Given the description of an element on the screen output the (x, y) to click on. 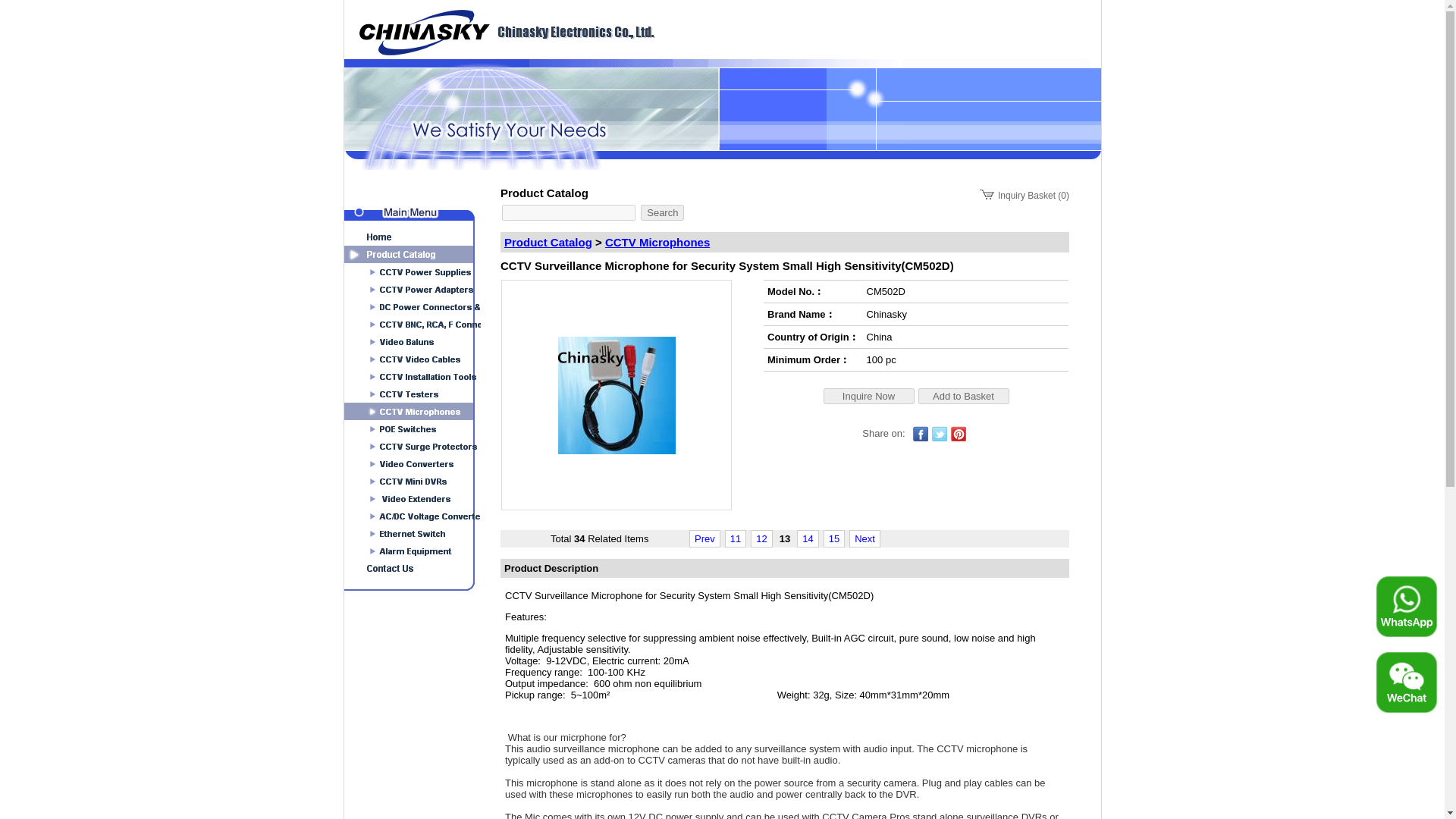
11 (735, 538)
Whatsapp (1406, 606)
14 (807, 538)
Product Catalog (547, 241)
Prev (704, 538)
CCTV Microphones (657, 241)
Facebook (920, 433)
Search (662, 212)
Pinterest (958, 433)
12 (761, 538)
